Given the description of an element on the screen output the (x, y) to click on. 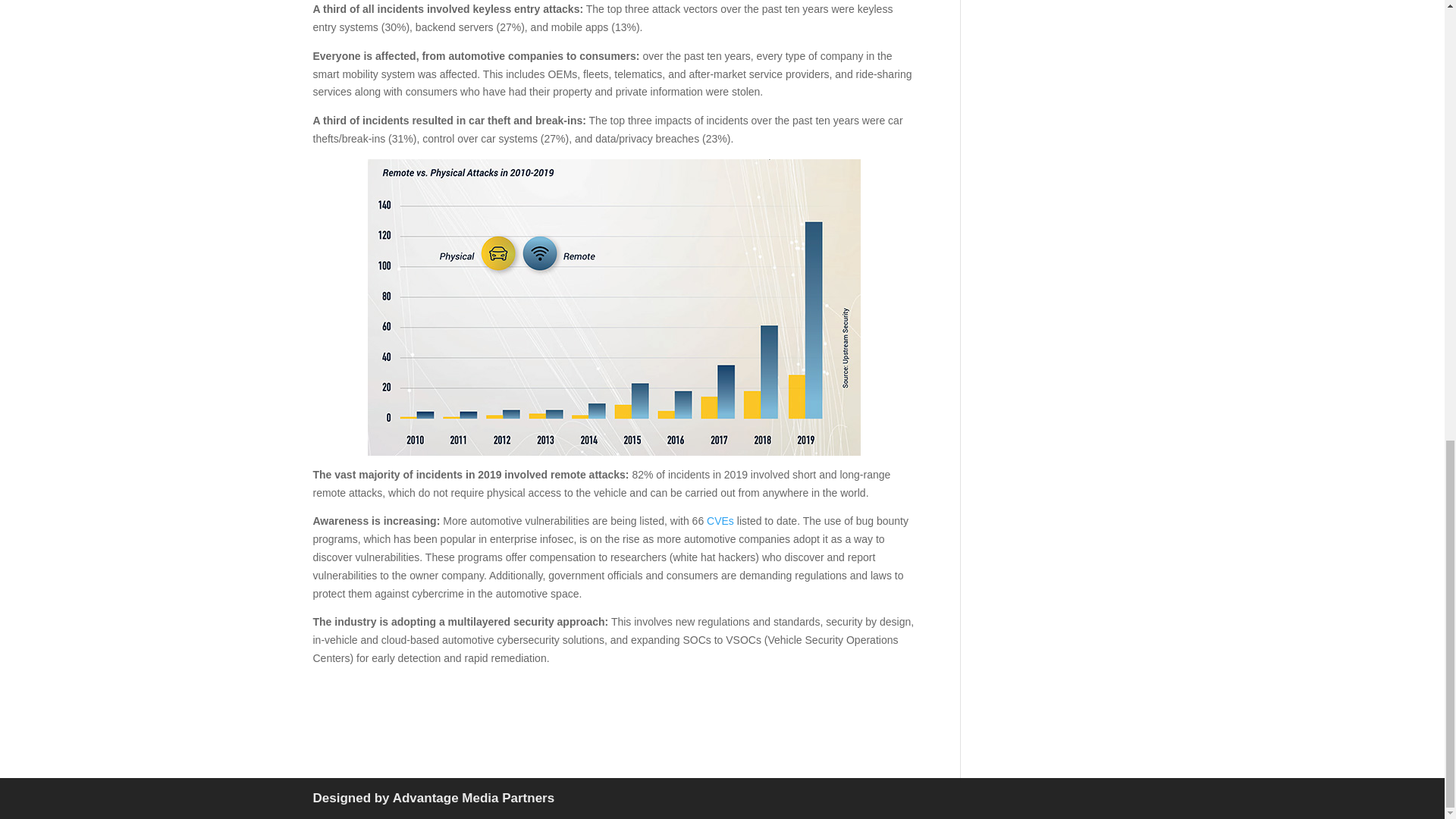
Designed by Advantage Media Partners (433, 798)
CVEs (719, 521)
